Given the description of an element on the screen output the (x, y) to click on. 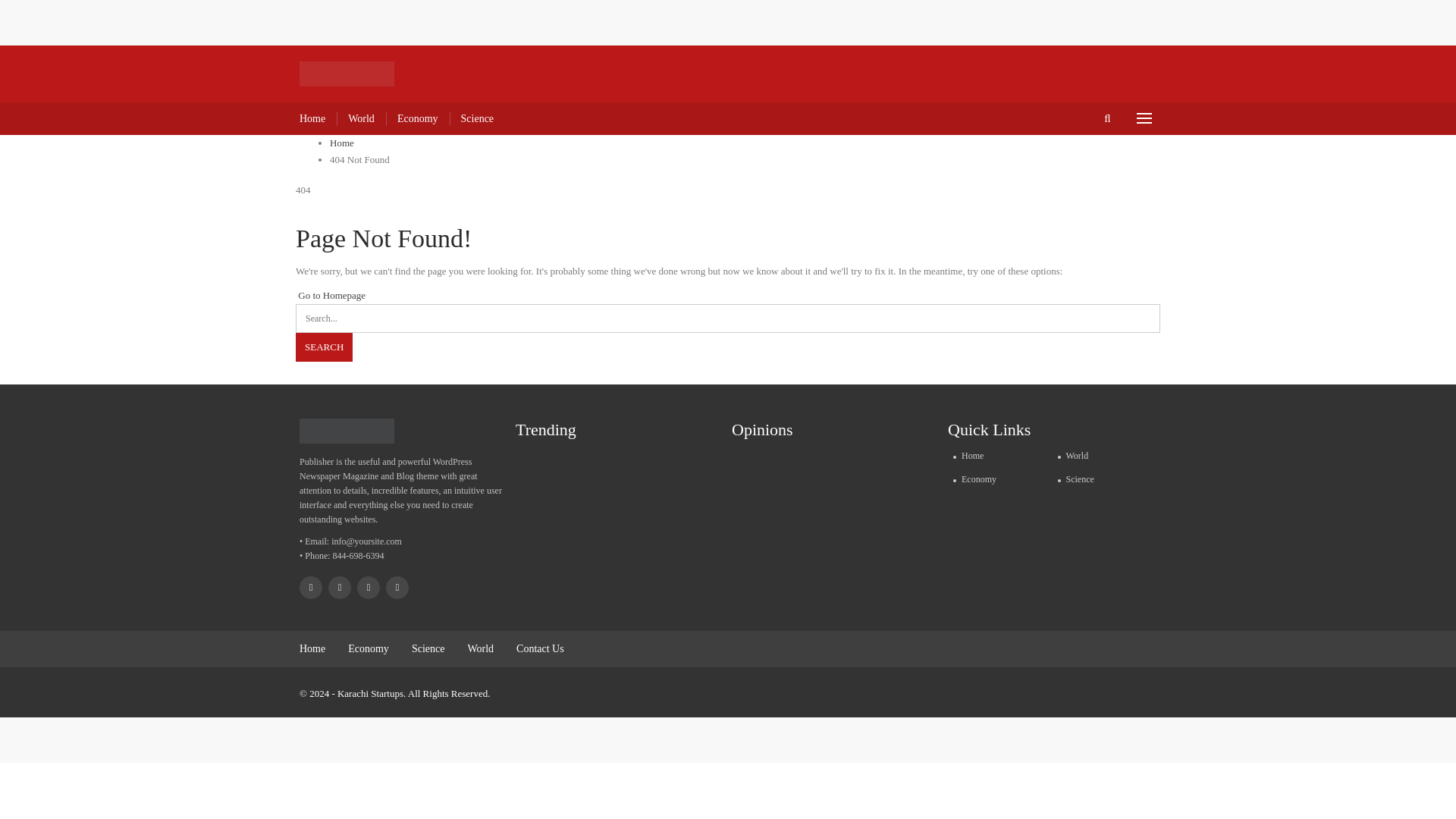
World (1104, 455)
World (360, 118)
Economy (367, 648)
Economy (999, 479)
Search (323, 346)
Home (999, 455)
Science (478, 118)
Opinions (769, 431)
World (480, 648)
Search (323, 346)
Contact Us (540, 648)
Home (311, 118)
Science (1104, 479)
Go to Homepage (330, 295)
Search for: (727, 317)
